Given the description of an element on the screen output the (x, y) to click on. 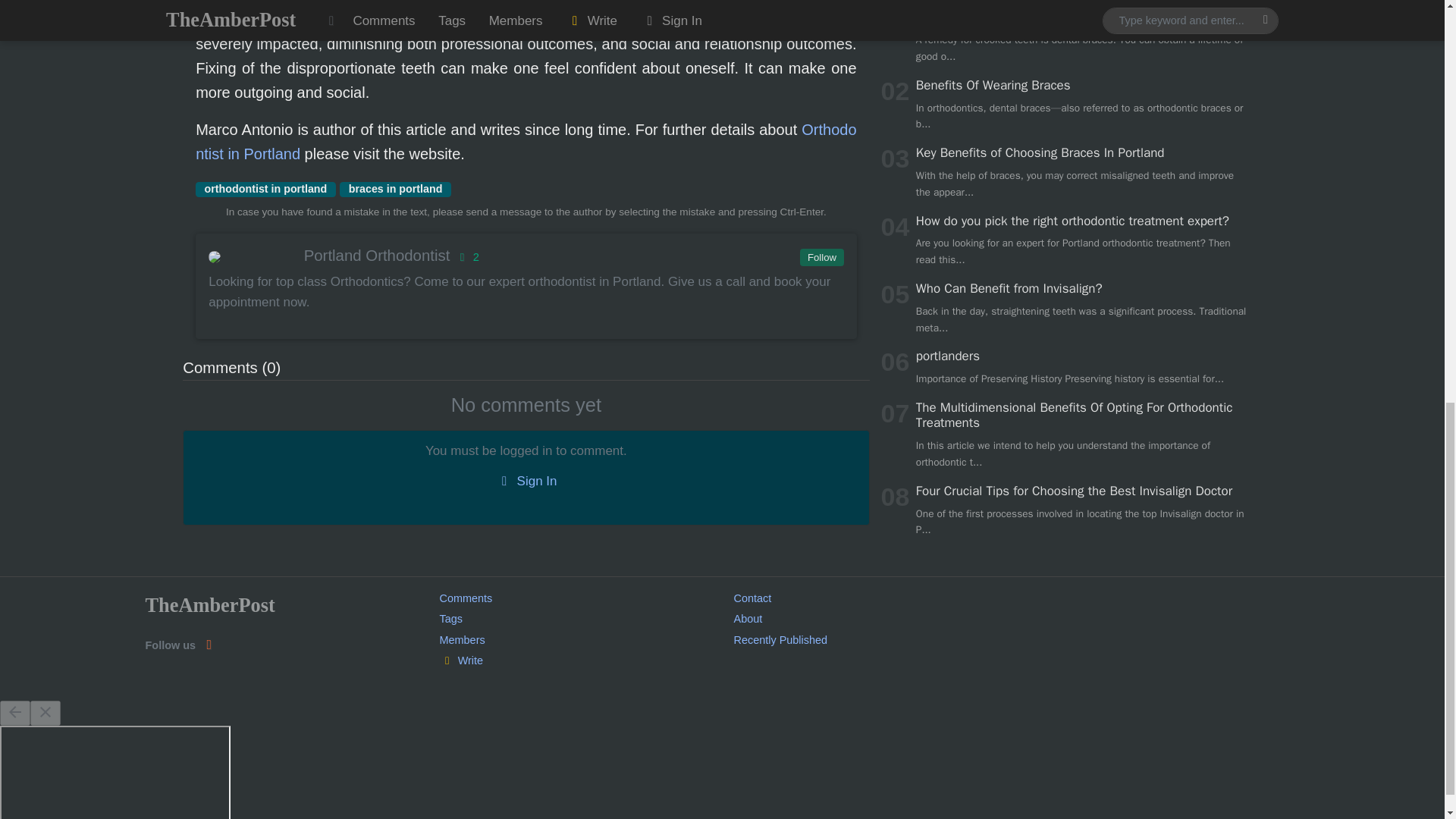
Rating (466, 256)
Follow (821, 257)
Portland Orthodontist 2 (525, 255)
braces in portland (395, 189)
Sign In (525, 481)
Comments (466, 598)
braces in portland (395, 189)
orthodontist in portland (265, 189)
Orthodontist in Portland (525, 141)
orthodontist in portland (265, 189)
